Given the description of an element on the screen output the (x, y) to click on. 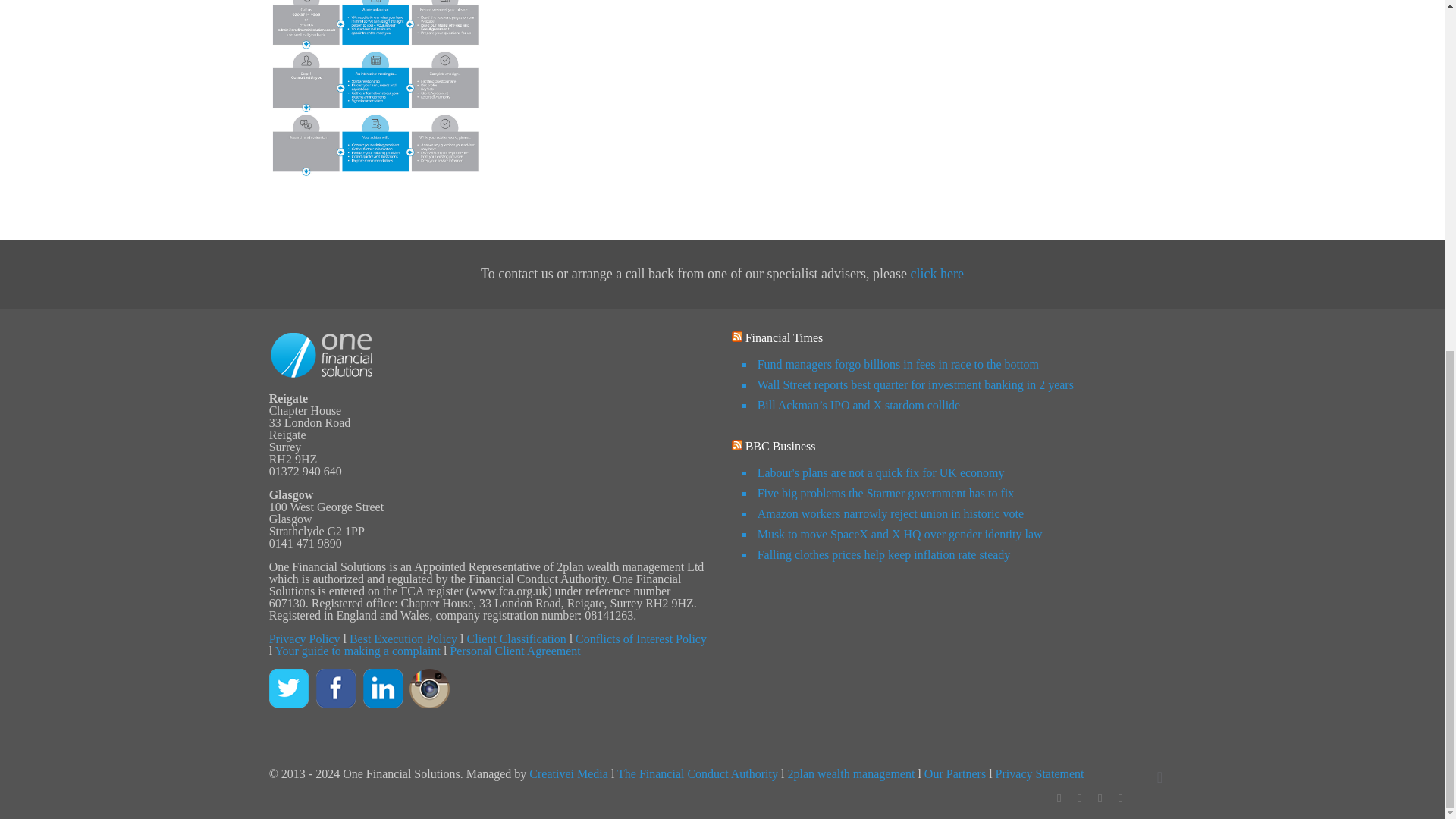
Twitter (1100, 797)
creativei media (568, 773)
LinkedIn (1120, 797)
Facebook (1059, 797)
